Given the description of an element on the screen output the (x, y) to click on. 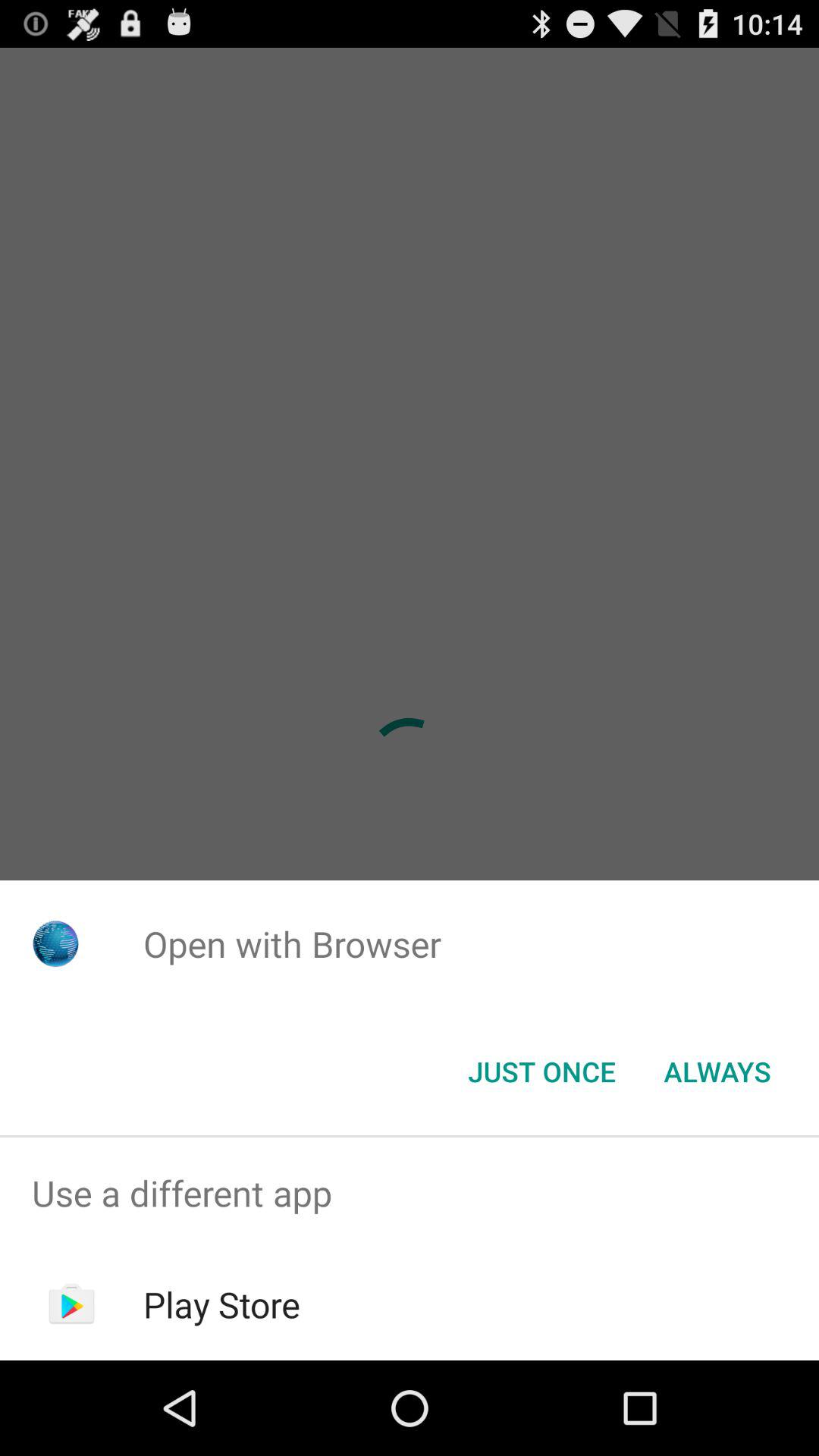
click the app below open with browser (717, 1071)
